Given the description of an element on the screen output the (x, y) to click on. 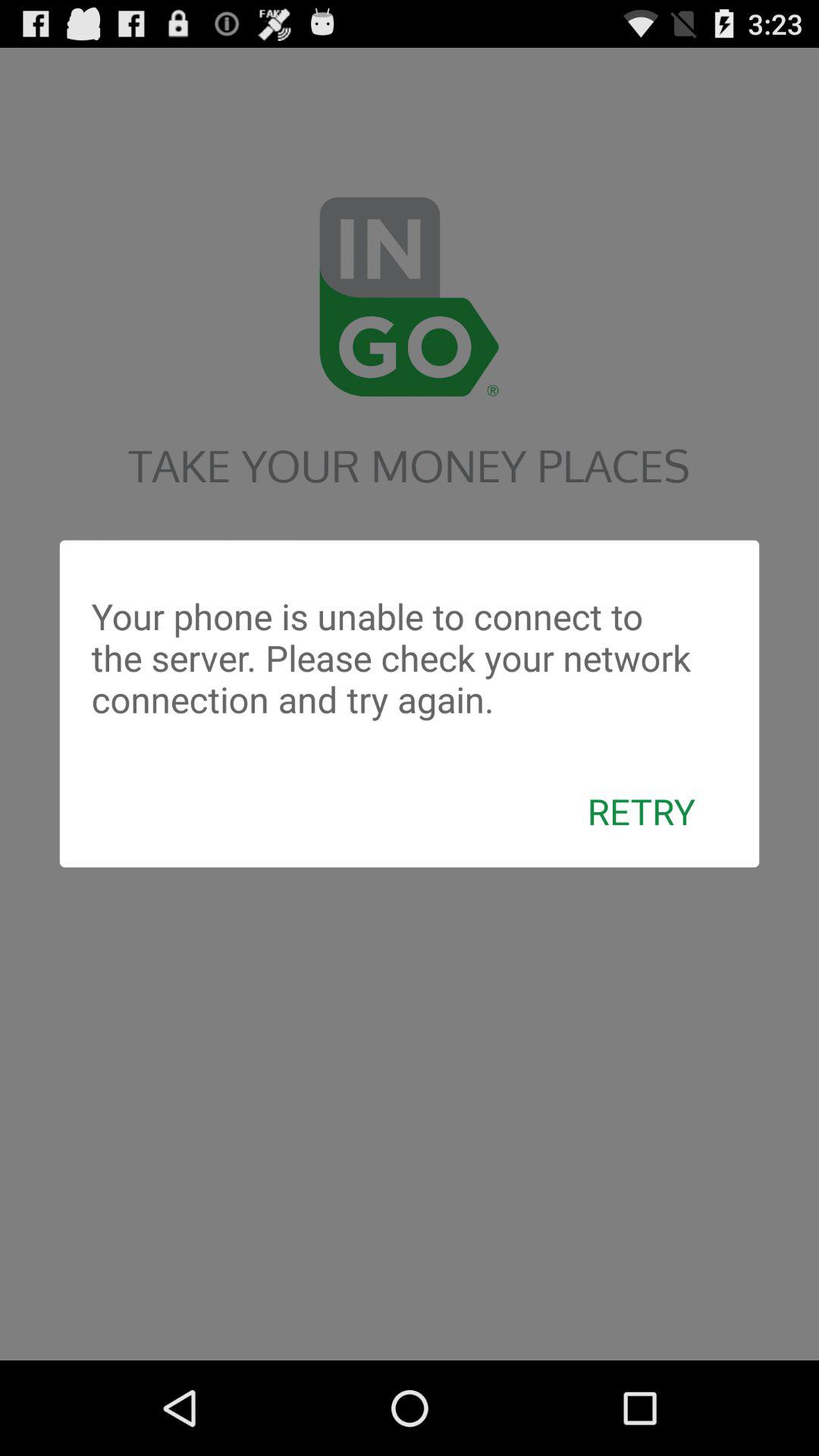
tap the item below your phone is item (641, 811)
